Given the description of an element on the screen output the (x, y) to click on. 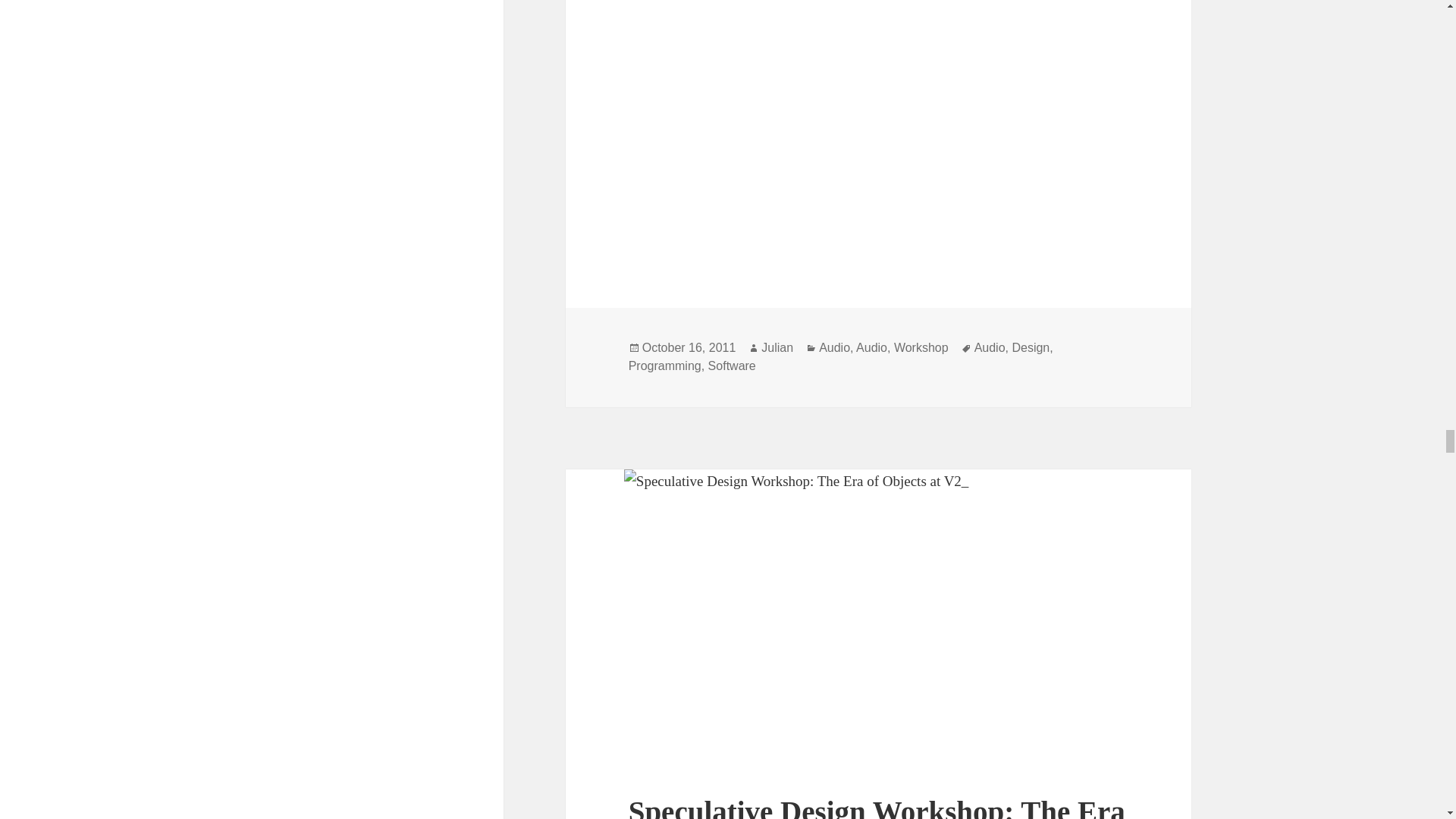
Henry by JulianBleecker, on Flickr (878, 122)
